Given the description of an element on the screen output the (x, y) to click on. 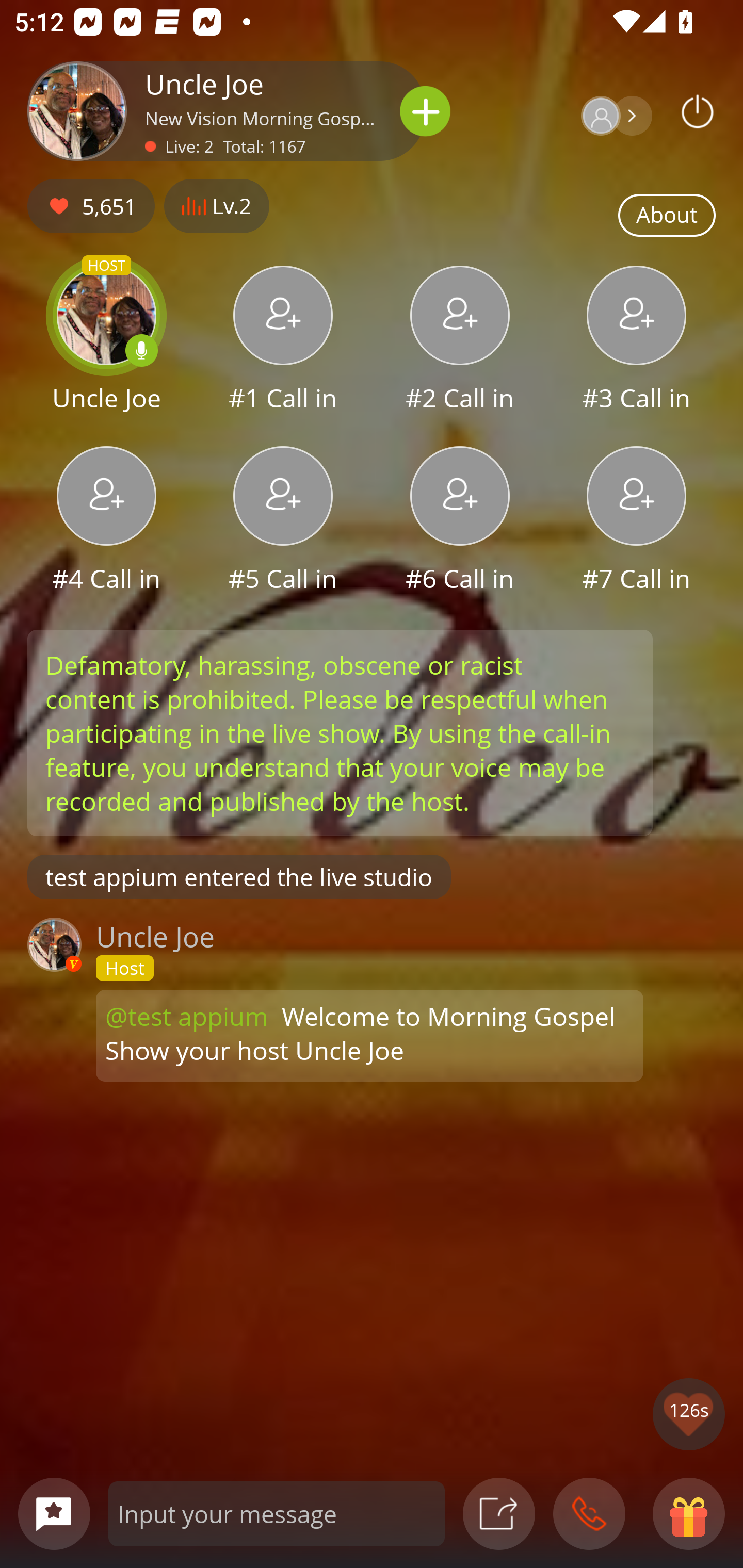
Podbean (697, 111)
About (666, 215)
HOST Uncle Joe (105, 340)
#1 Call in (282, 340)
#2 Call in (459, 340)
#3 Call in (636, 340)
#4 Call in (105, 521)
#5 Call in (282, 521)
#6 Call in (459, 521)
#7 Call in (636, 521)
Input your message (276, 1513)
